Given the description of an element on the screen output the (x, y) to click on. 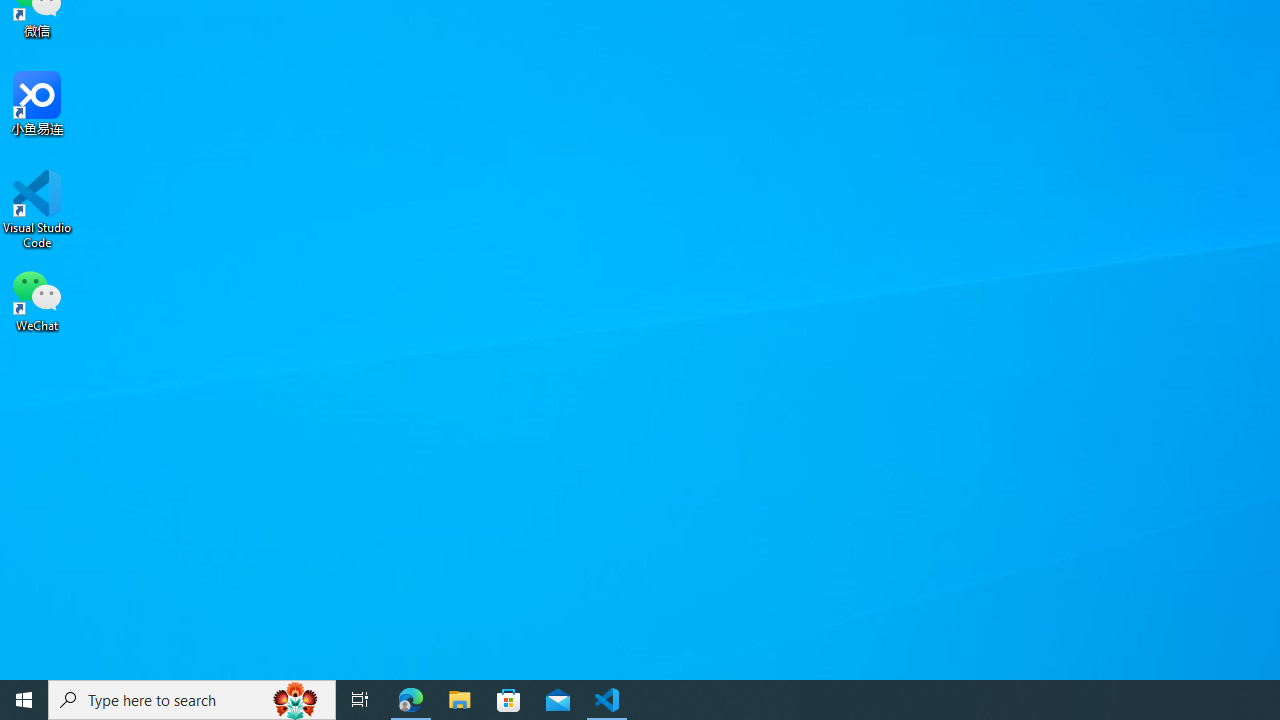
Visual Studio Code (37, 209)
Search highlights icon opens search home window (295, 699)
Start (24, 699)
Type here to search (191, 699)
WeChat (37, 299)
Task View (359, 699)
Microsoft Edge - 1 running window (411, 699)
Visual Studio Code - 1 running window (607, 699)
File Explorer (460, 699)
Microsoft Store (509, 699)
